Given the description of an element on the screen output the (x, y) to click on. 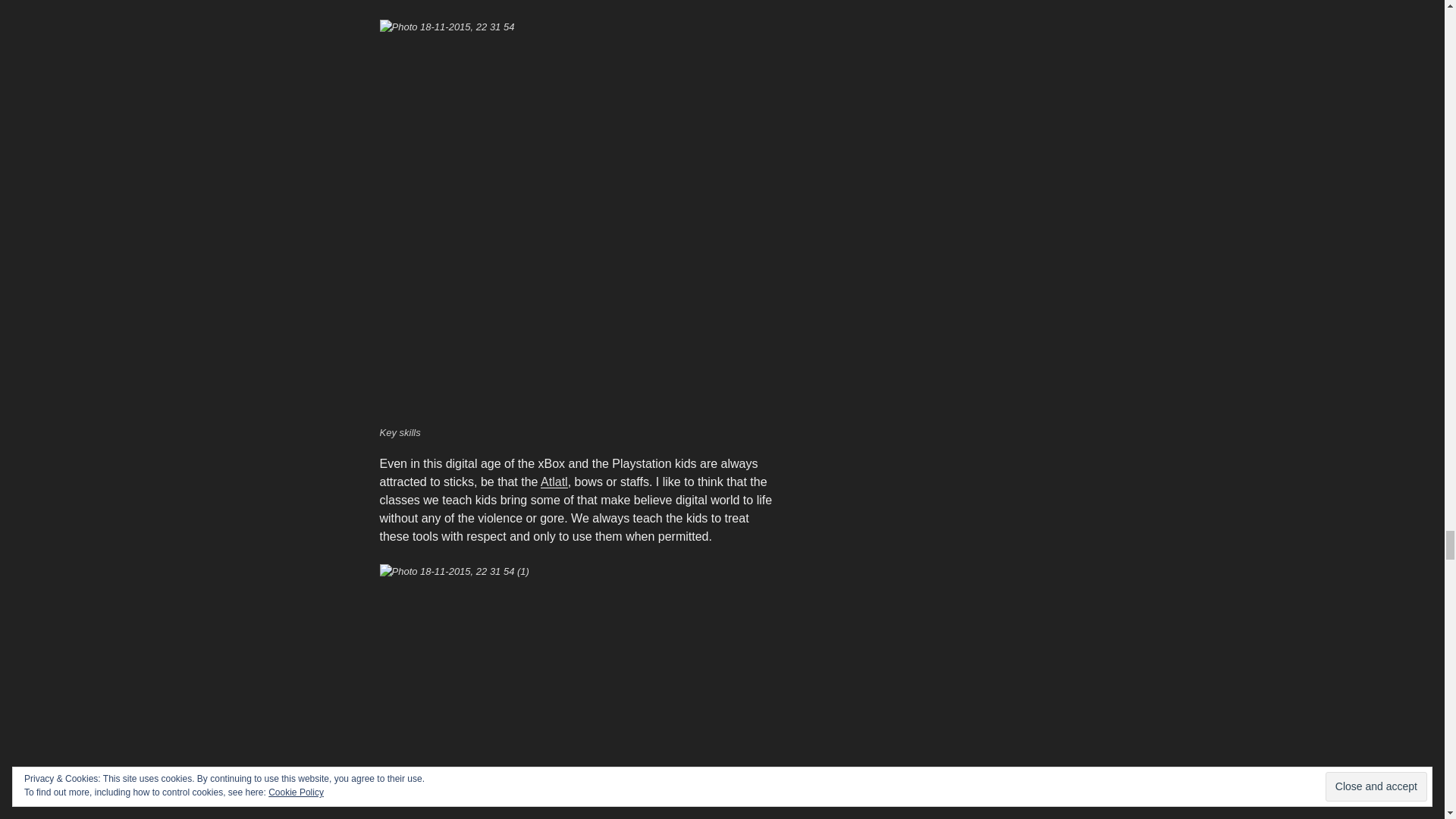
Atlatl (553, 481)
